Given the description of an element on the screen output the (x, y) to click on. 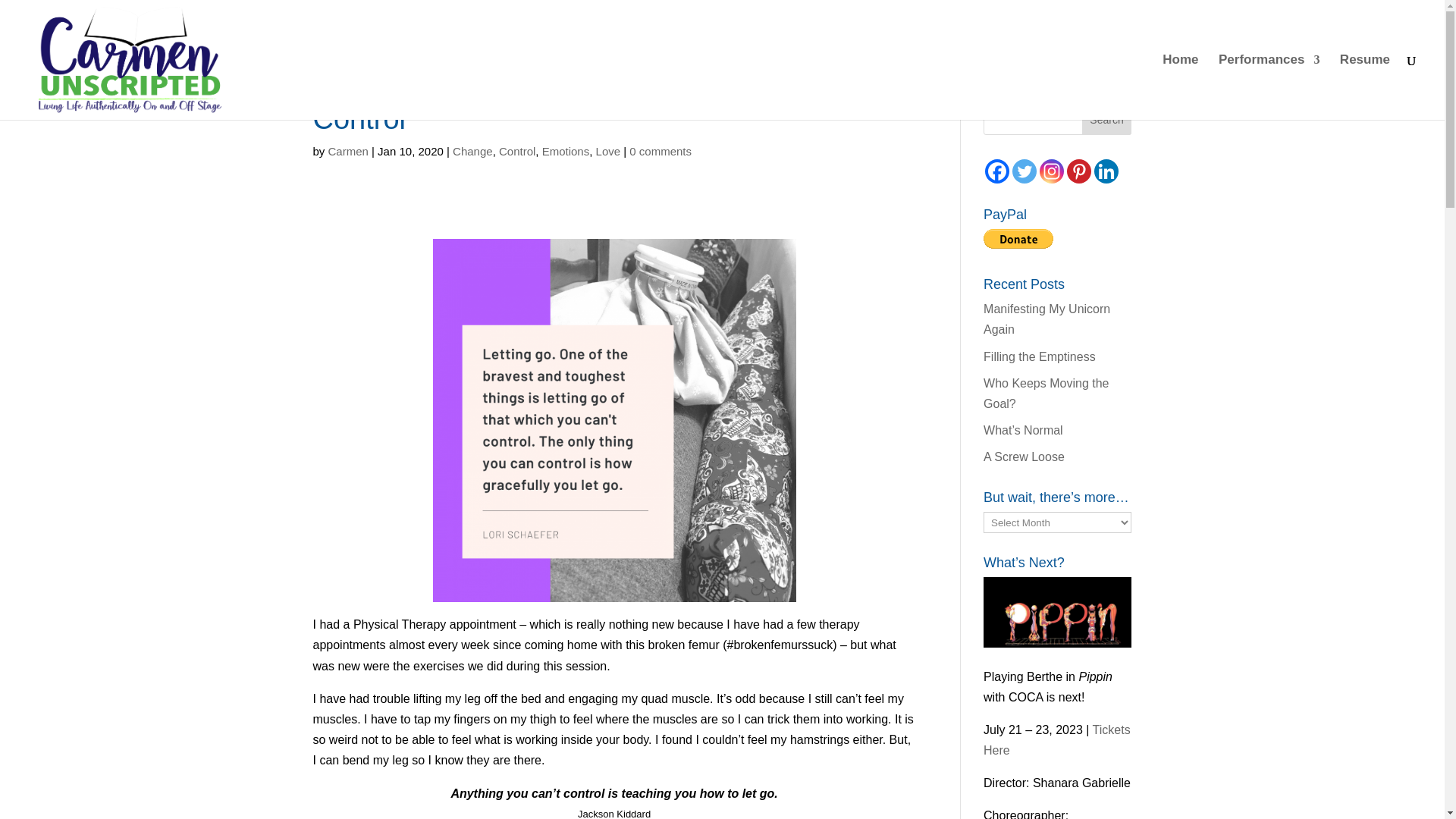
Twitter (1023, 170)
0 comments (659, 151)
Carmen (348, 151)
Control (517, 151)
Emotions (565, 151)
Pinterest (1078, 170)
Search (1106, 119)
Facebook (997, 170)
Love (608, 151)
Instagram (1051, 170)
